Given the description of an element on the screen output the (x, y) to click on. 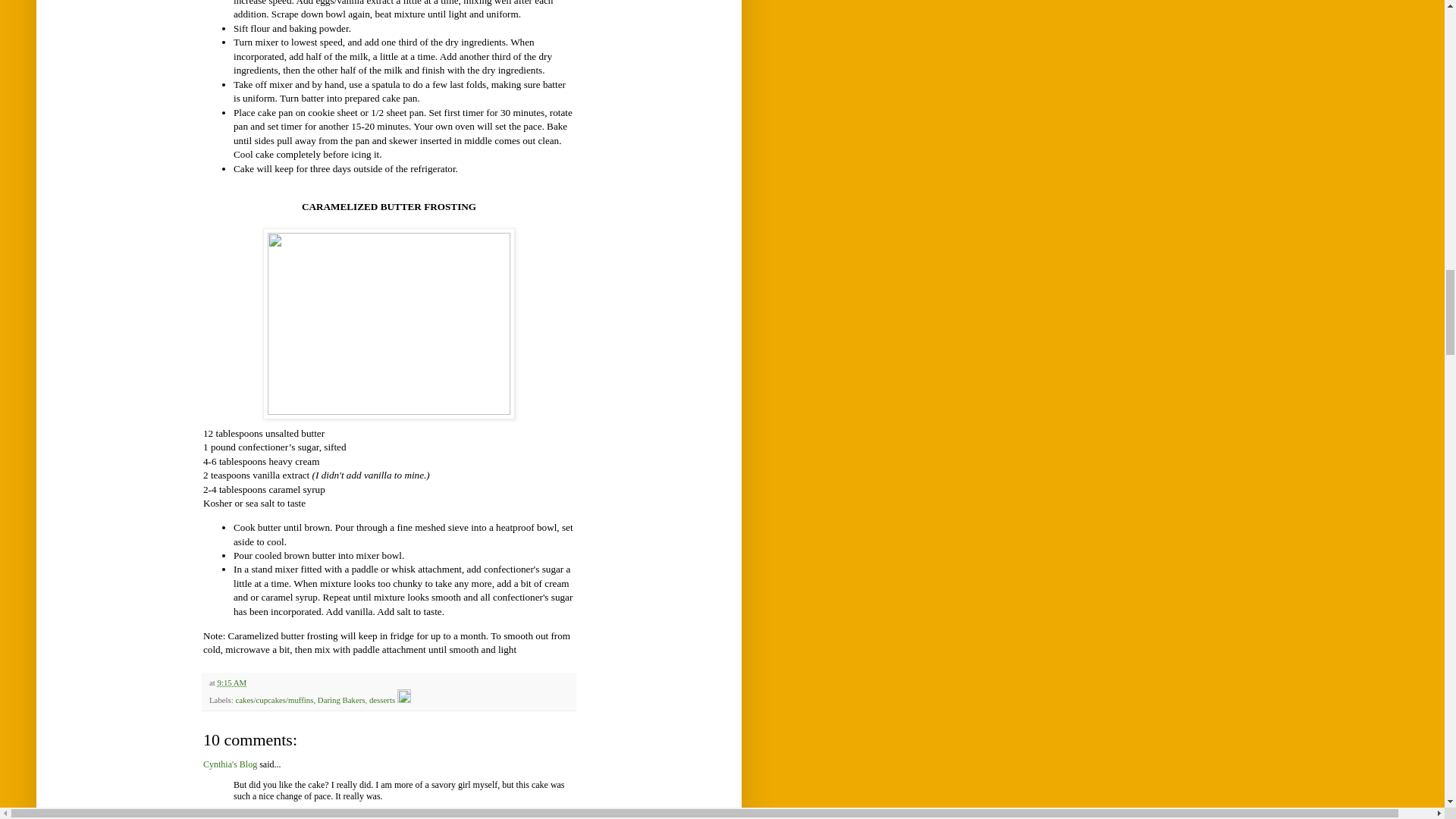
comment permalink (252, 816)
desserts (381, 699)
9:15 AM (231, 682)
Cynthia's Blog (230, 764)
permanent link (231, 682)
Daring Bakers (341, 699)
Edit Post (403, 699)
Delete Comment (279, 816)
11:39 AM (252, 816)
